Given the description of an element on the screen output the (x, y) to click on. 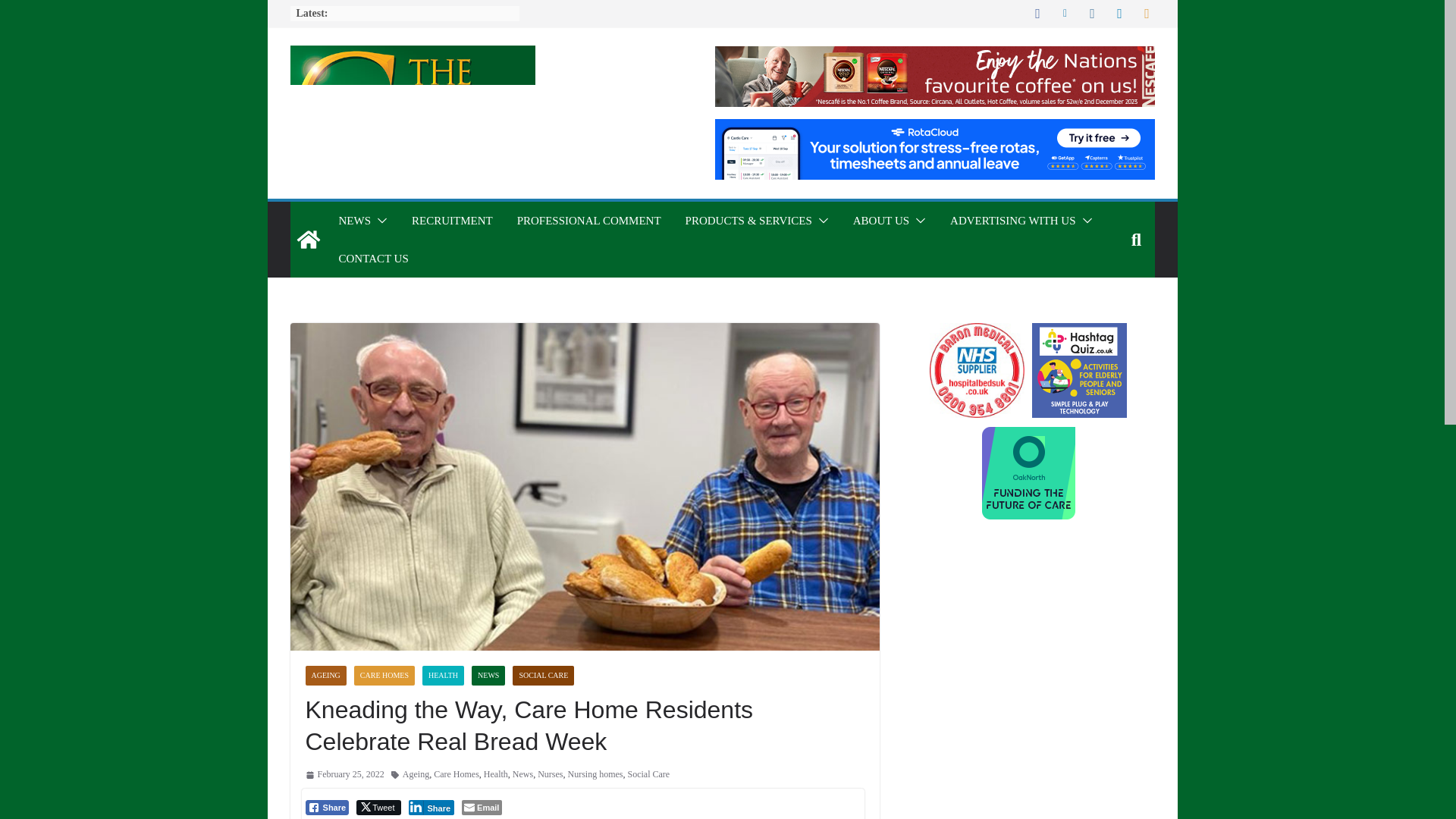
PROFESSIONAL COMMENT (588, 220)
11:15 am (344, 774)
RECRUITMENT (452, 220)
The Carer (307, 239)
NEWS (354, 220)
